Given the description of an element on the screen output the (x, y) to click on. 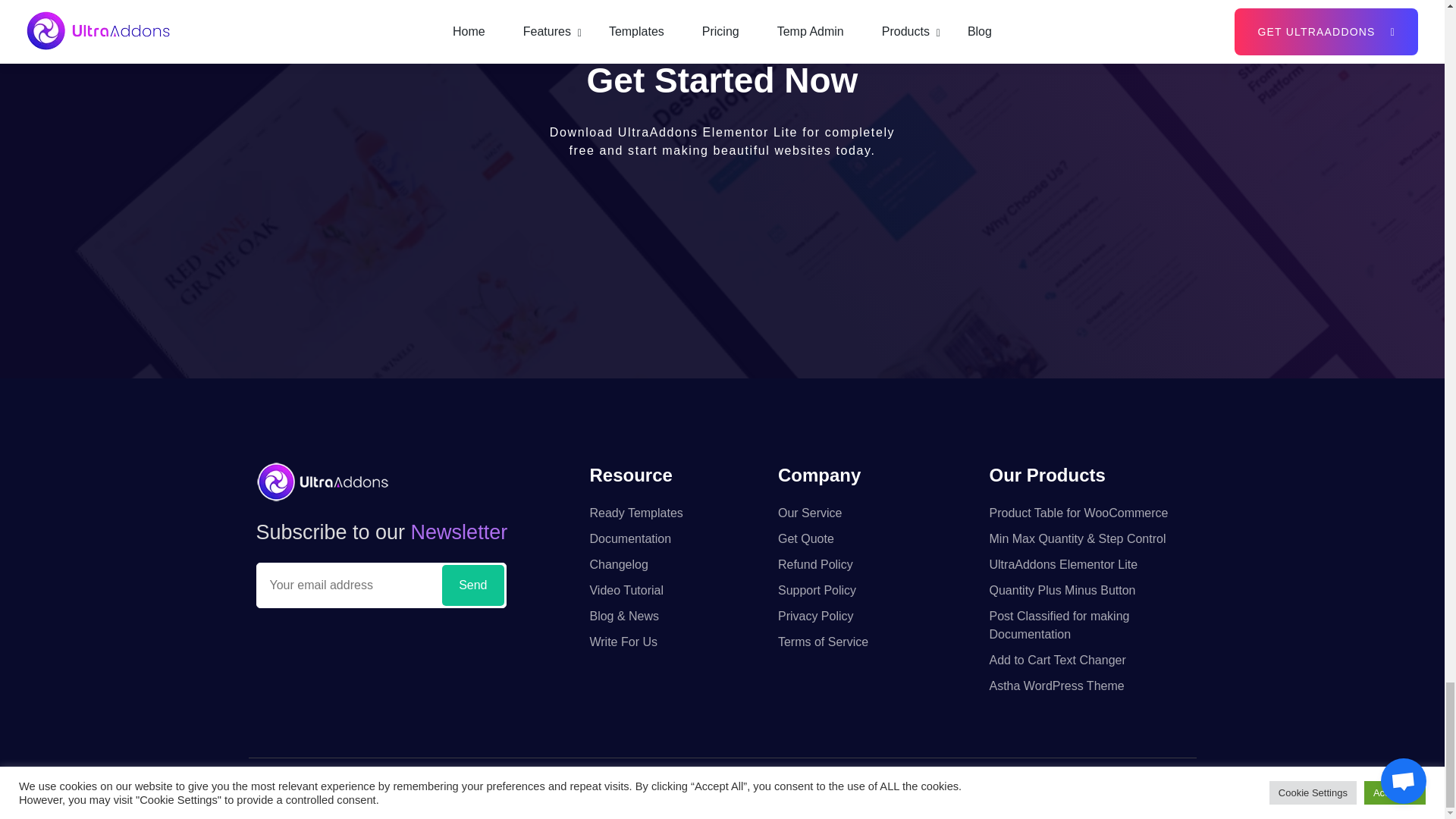
Send (472, 585)
